Given the description of an element on the screen output the (x, y) to click on. 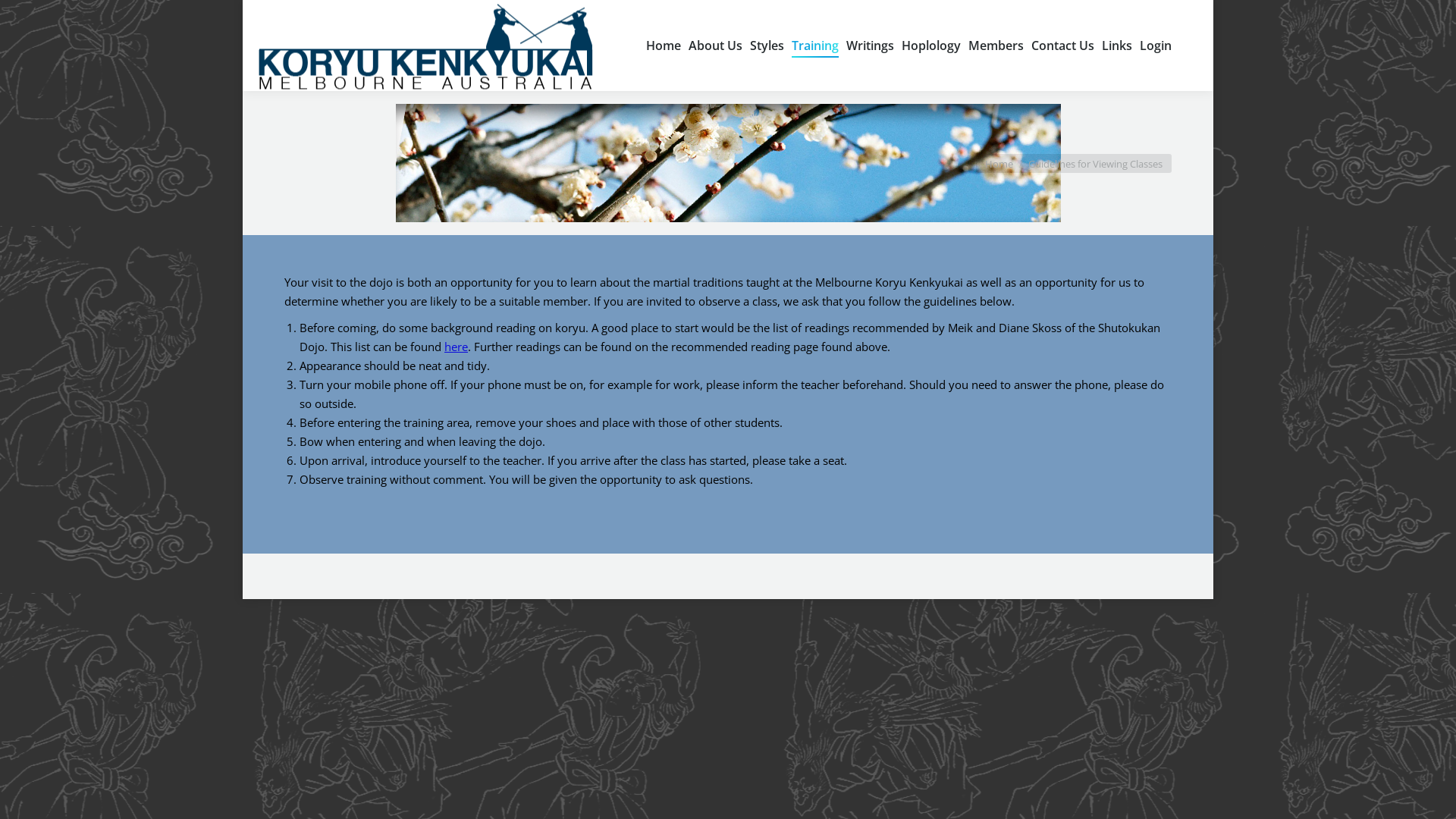
Styles Element type: text (766, 45)
Login Element type: text (1155, 45)
Home Element type: text (999, 162)
Writings Element type: text (870, 45)
Members Element type: text (995, 45)
Home Element type: text (663, 45)
Training Element type: text (814, 45)
About Us Element type: text (715, 45)
here Element type: text (455, 346)
Hoplology Element type: text (930, 45)
Contact Us Element type: text (1062, 45)
Links Element type: text (1116, 45)
